Given the description of an element on the screen output the (x, y) to click on. 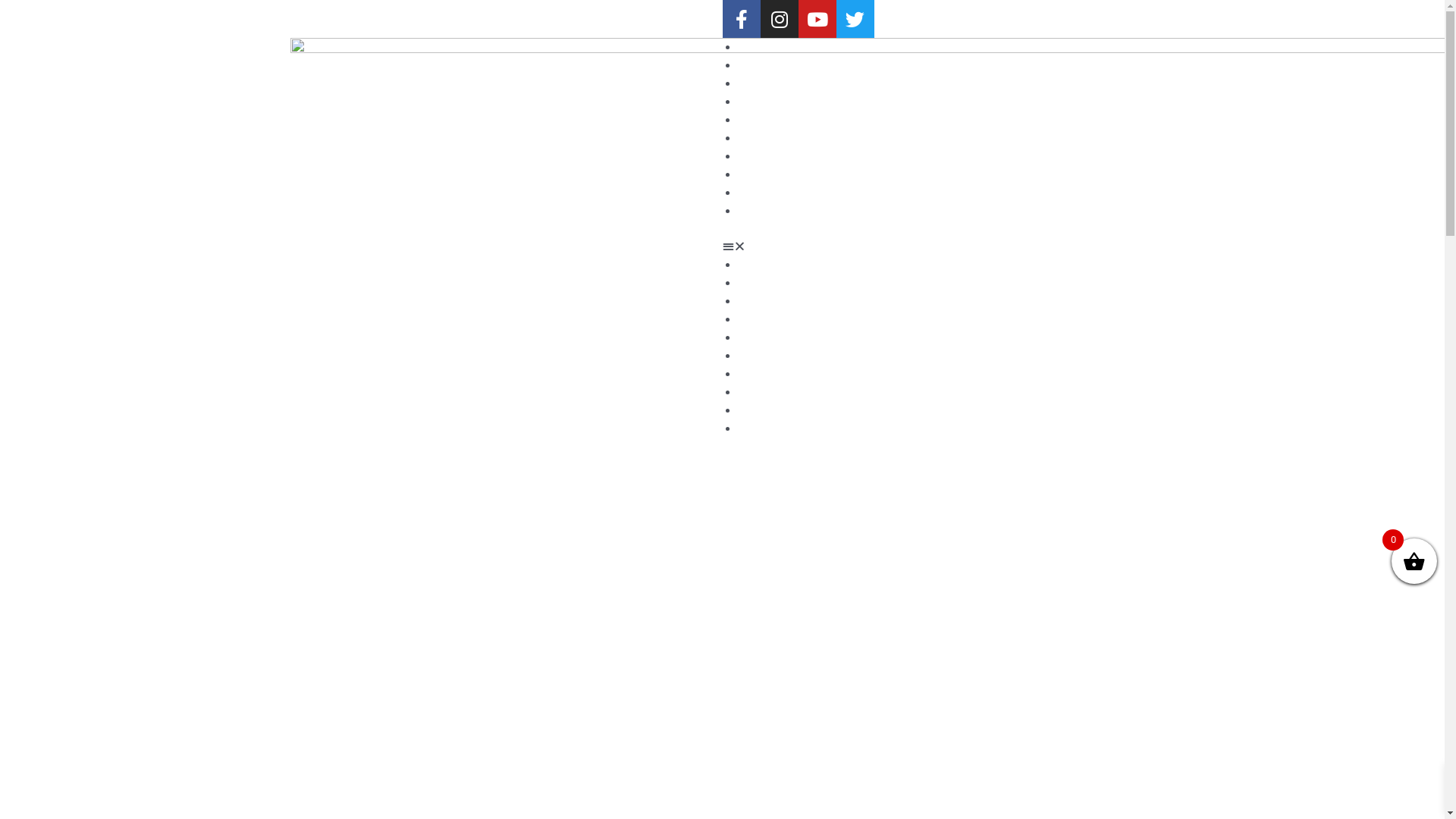
WORKSHOPS Element type: text (770, 391)
GALLERY Element type: text (760, 83)
GROUPS Element type: text (758, 355)
SHOP Element type: text (751, 156)
HOME Element type: text (753, 46)
CONTACT Element type: text (762, 428)
GROUPS Element type: text (758, 137)
VIDEOS Element type: text (756, 119)
WORKSHOPS Element type: text (770, 174)
Instagram Element type: text (778, 18)
BLOGS Element type: text (754, 101)
ABOUT Element type: text (755, 65)
GALLERY Element type: text (760, 300)
AFFILIATES Element type: text (766, 410)
VIDEOS Element type: text (756, 337)
BLOGS Element type: text (754, 319)
AFFILIATES Element type: text (766, 192)
ABOUT Element type: text (755, 282)
Youtube Element type: text (816, 18)
0402 606 851 Element type: text (505, 18)
Facebook-f Element type: text (740, 18)
SHOP Element type: text (751, 373)
Twitter Element type: text (854, 18)
CONTACT Element type: text (762, 210)
HOME Element type: text (753, 264)
